Given the description of an element on the screen output the (x, y) to click on. 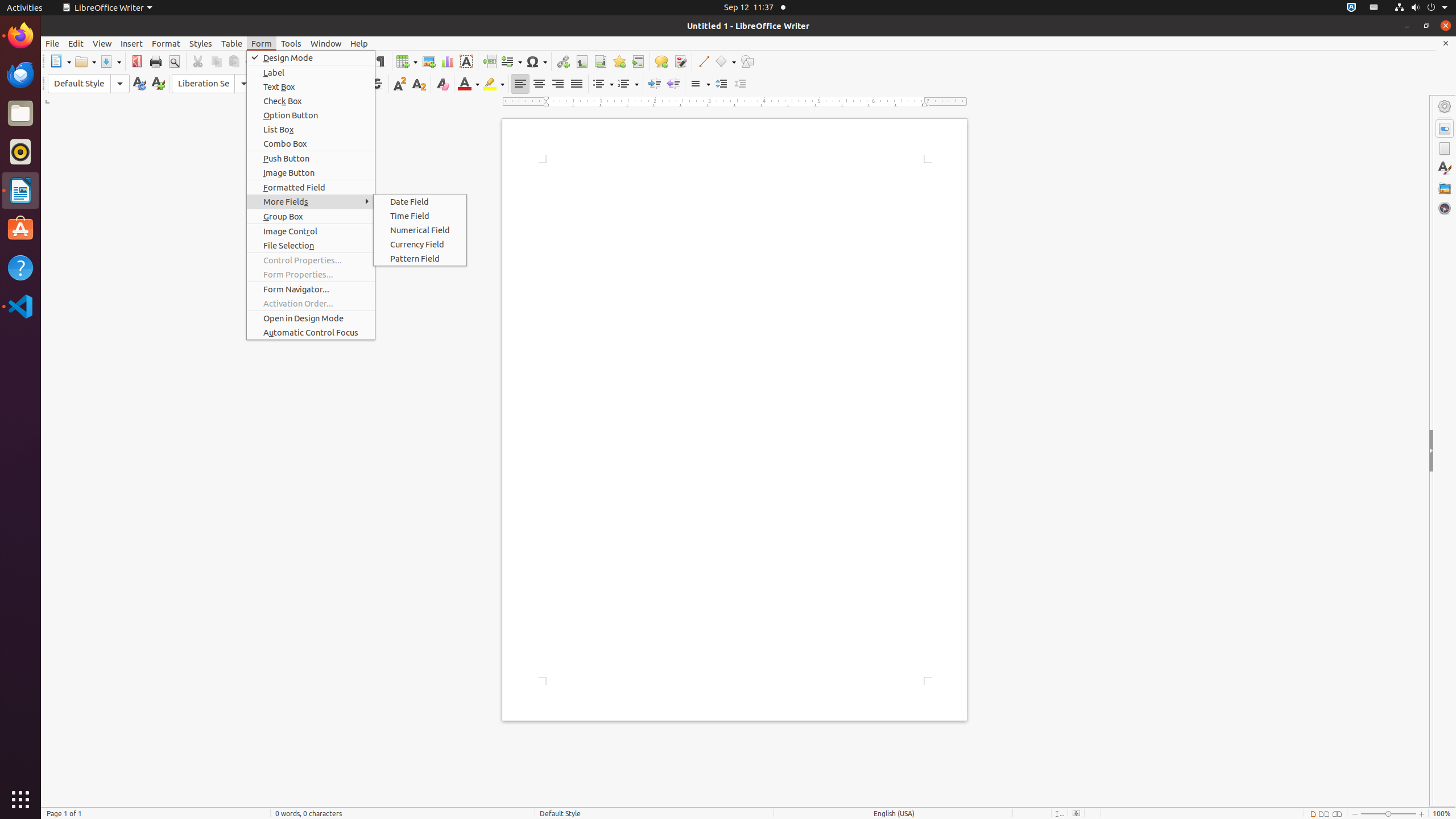
Table Element type: push-button (406, 61)
Basic Shapes Element type: push-button (724, 61)
Push Button Element type: check-menu-item (310, 158)
Bold Element type: toggle-button (320, 83)
Decrease Element type: push-button (739, 83)
